Given the description of an element on the screen output the (x, y) to click on. 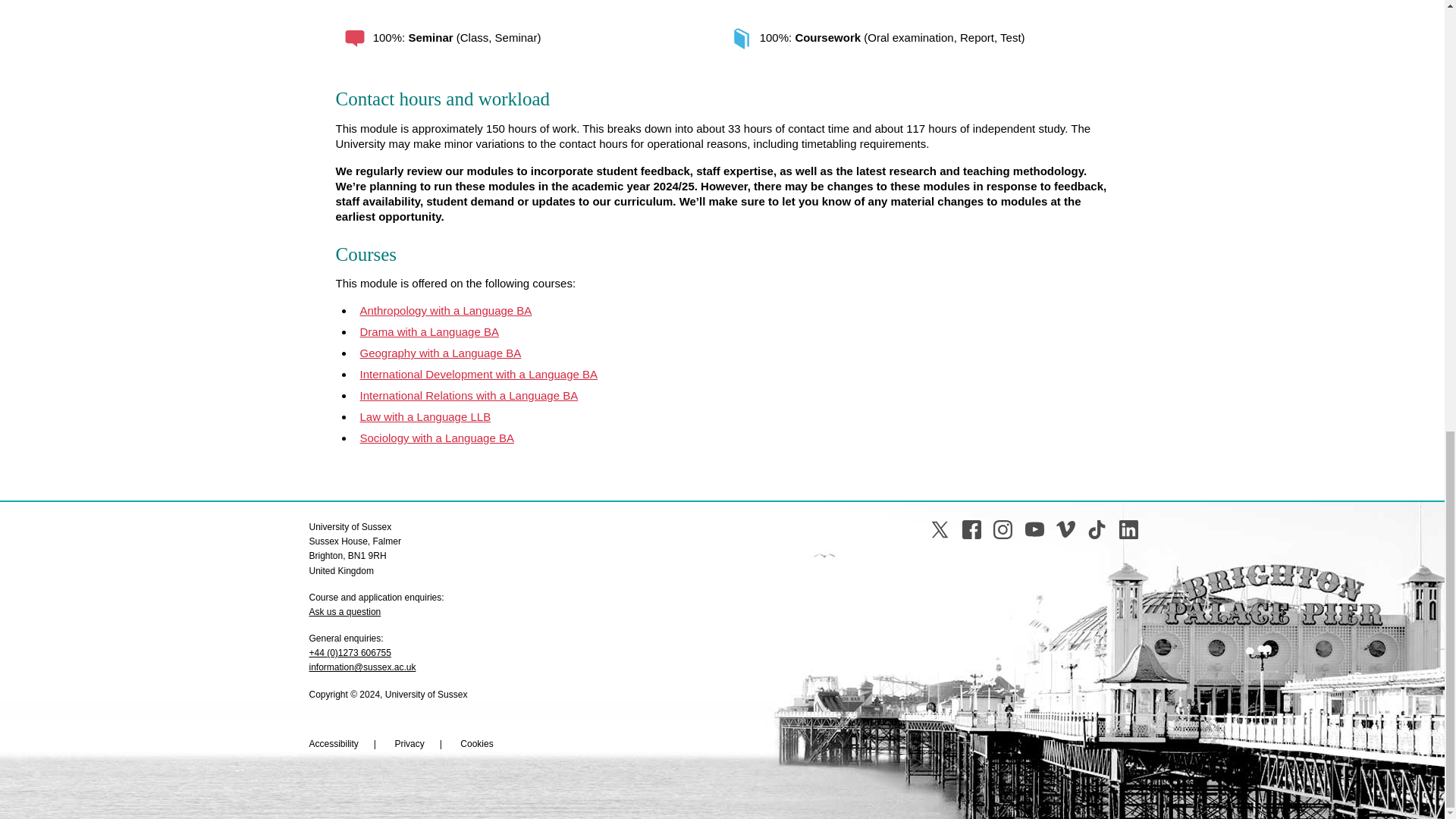
Facebook (971, 529)
YouTube (1034, 529)
Instagram (1001, 529)
Linkedin (1128, 529)
Tiktok (1096, 529)
Vimeo (1066, 529)
Twitter (939, 529)
